Given the description of an element on the screen output the (x, y) to click on. 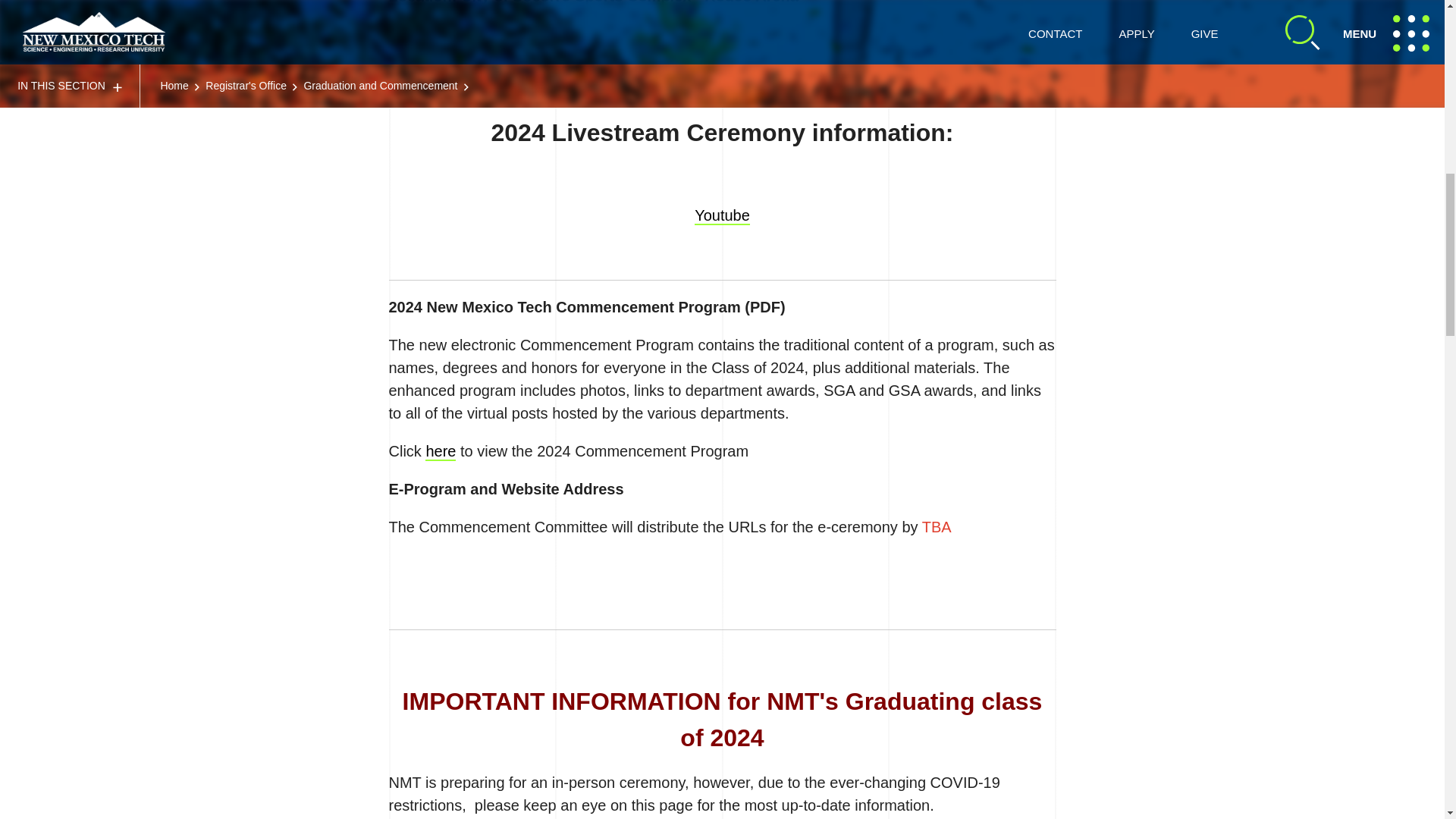
Directions (711, 33)
live stream (721, 215)
